Given the description of an element on the screen output the (x, y) to click on. 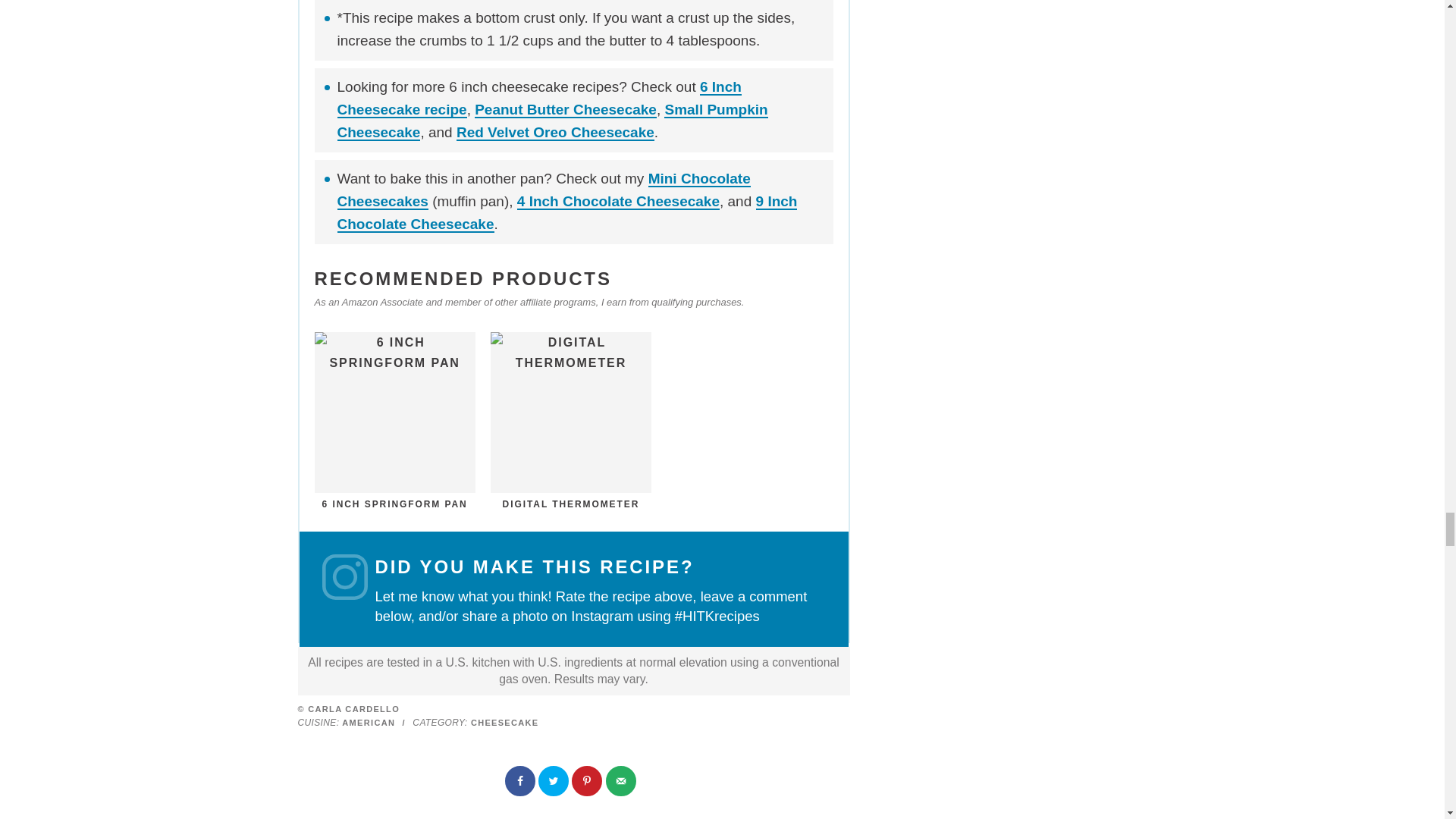
Save to Pinterest (588, 782)
Send over email (622, 782)
Share on Facebook (521, 782)
Share on Twitter (555, 782)
